Given the description of an element on the screen output the (x, y) to click on. 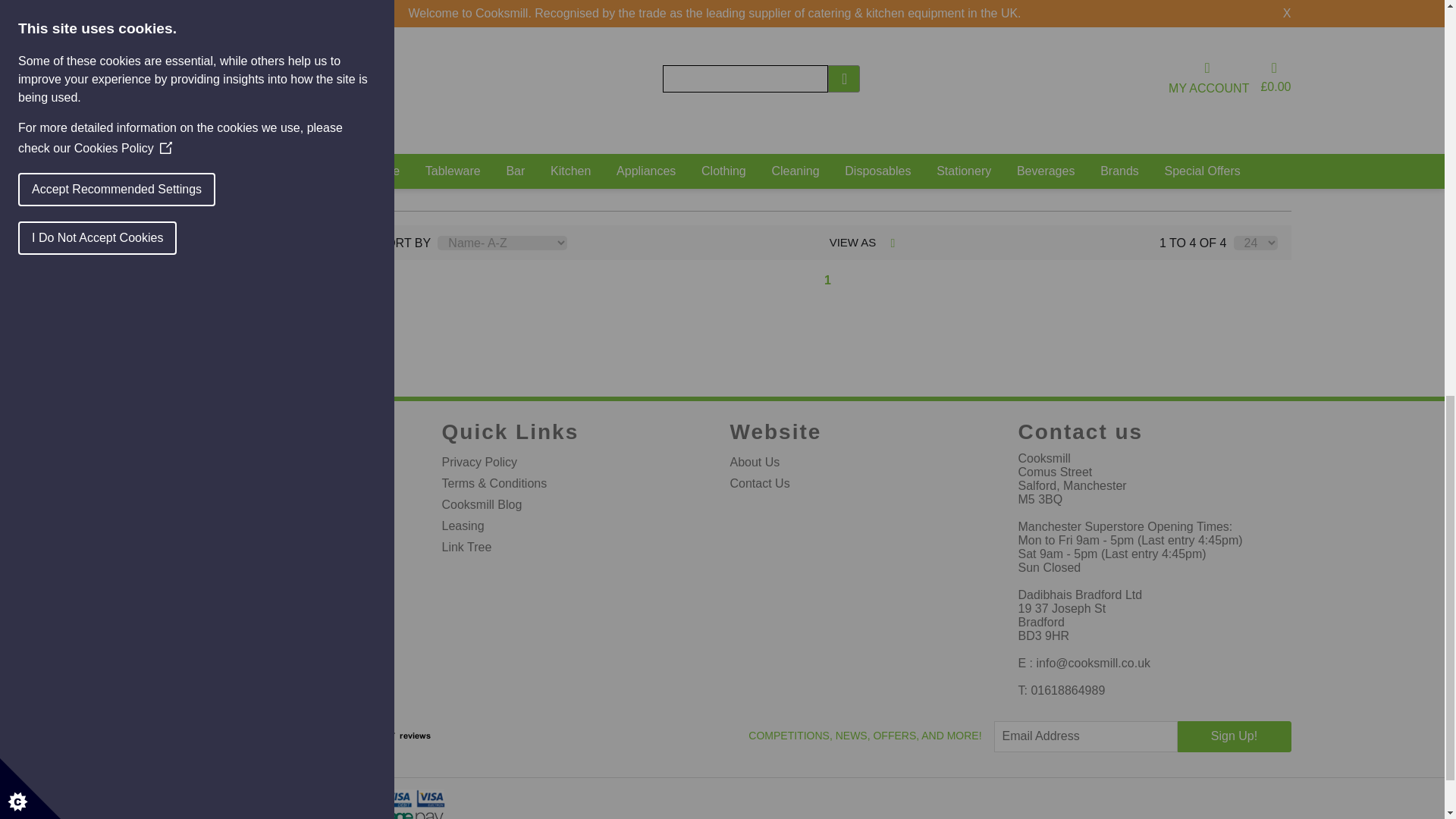
Lincat (779, 20)
Lincat (1242, 20)
Our customer Feefo rating (397, 735)
Sort By (502, 242)
Lincat (547, 20)
Lincat (1010, 20)
